Given the description of an element on the screen output the (x, y) to click on. 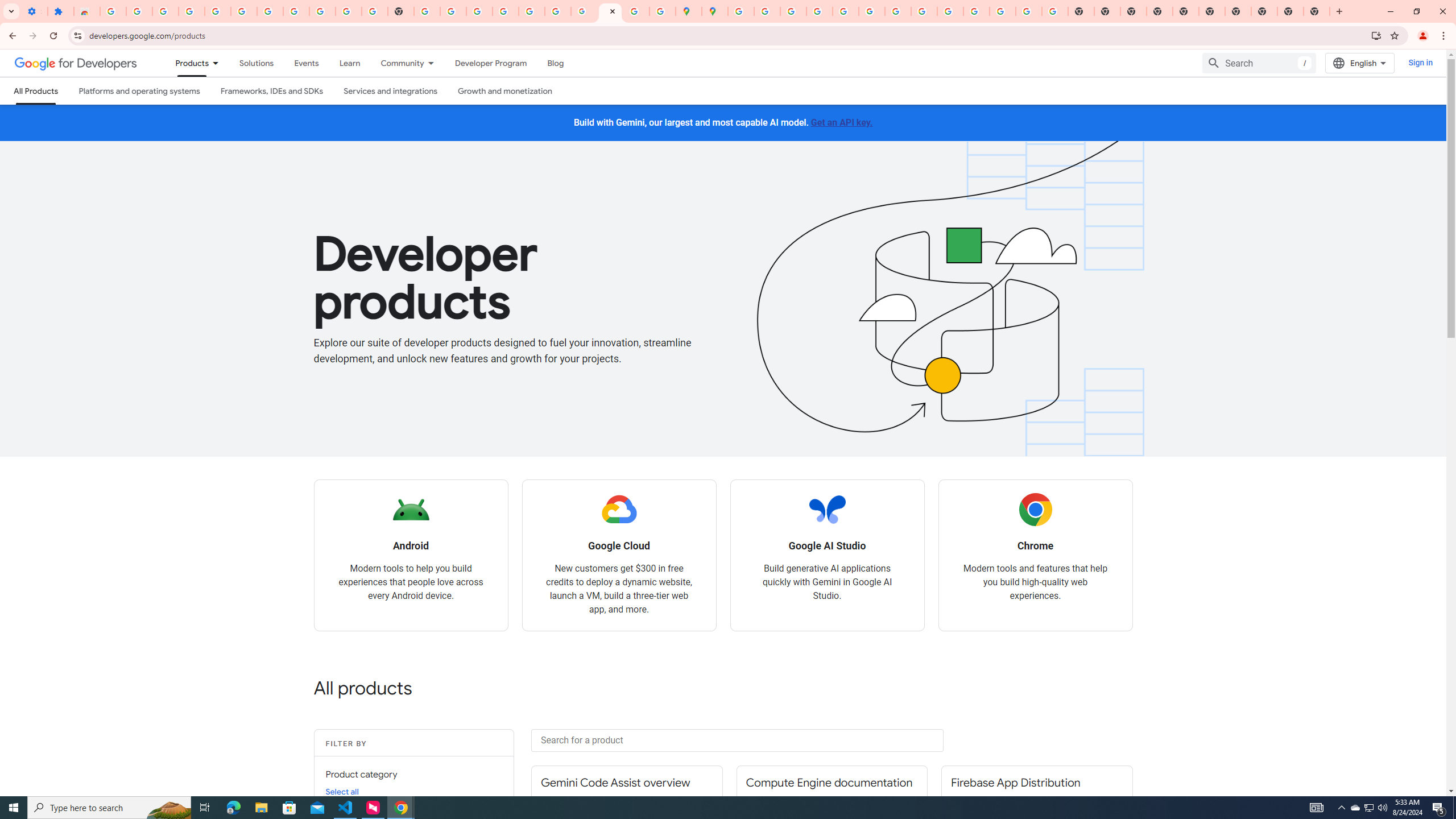
ChromeOS logo (1035, 509)
English (1359, 63)
YouTube (897, 11)
Android logo (411, 509)
Products, selected (186, 62)
